Given the description of an element on the screen output the (x, y) to click on. 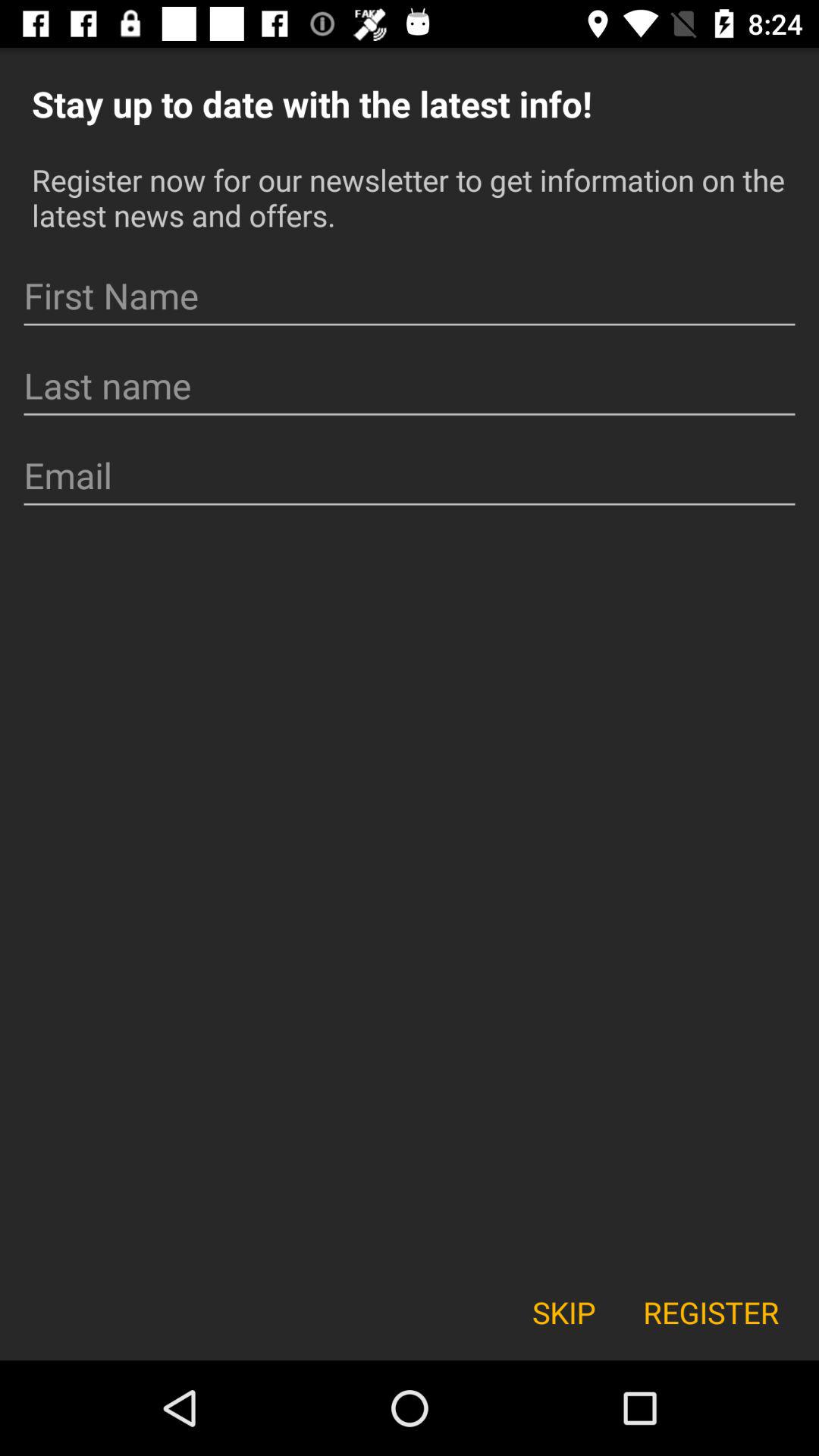
open icon next to register (563, 1312)
